Given the description of an element on the screen output the (x, y) to click on. 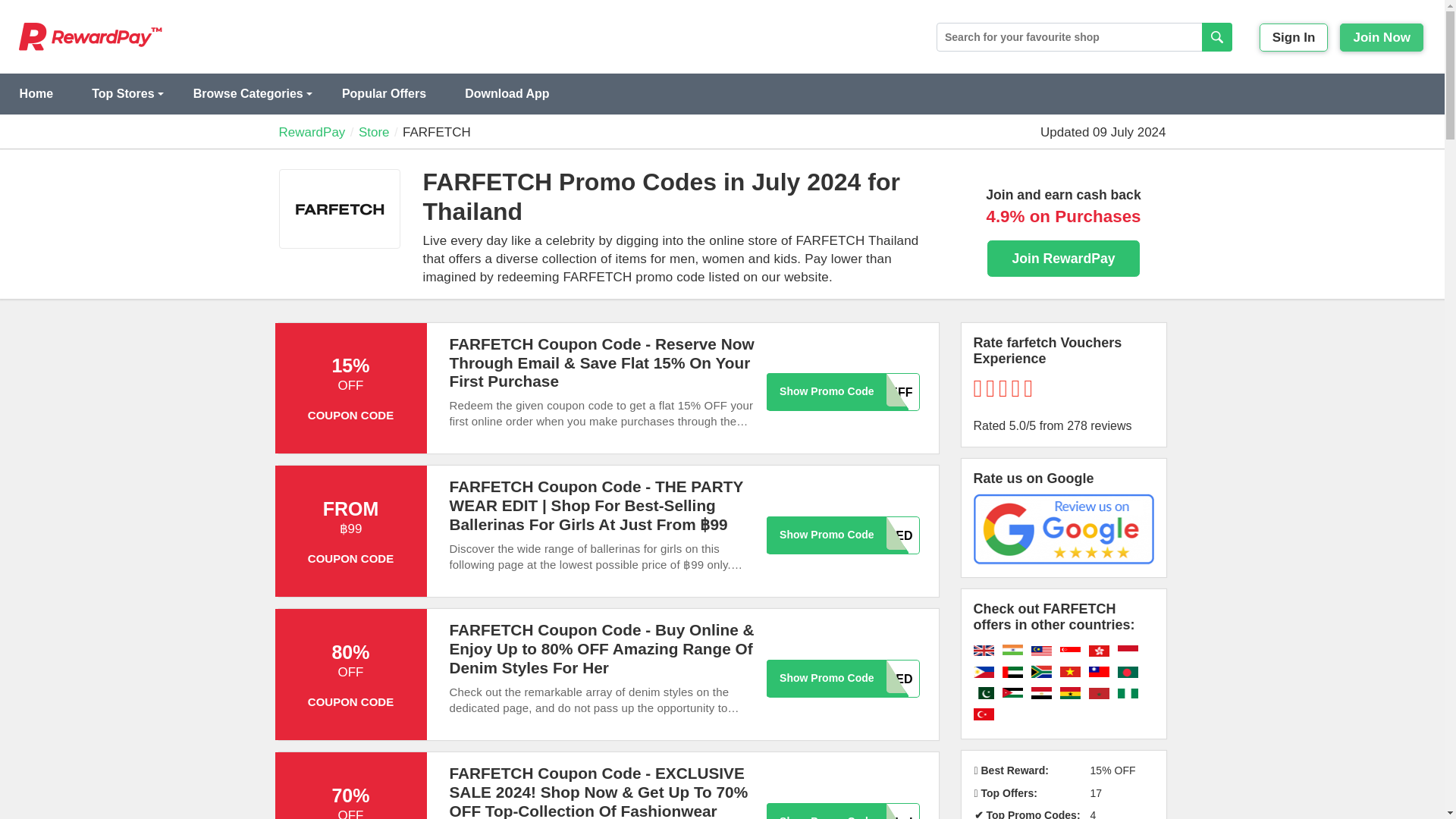
Browse Categories (247, 93)
Home (35, 93)
Top Stores (123, 93)
SEARCH (1216, 36)
Join Now (1381, 37)
Sign In (1293, 37)
